Given the description of an element on the screen output the (x, y) to click on. 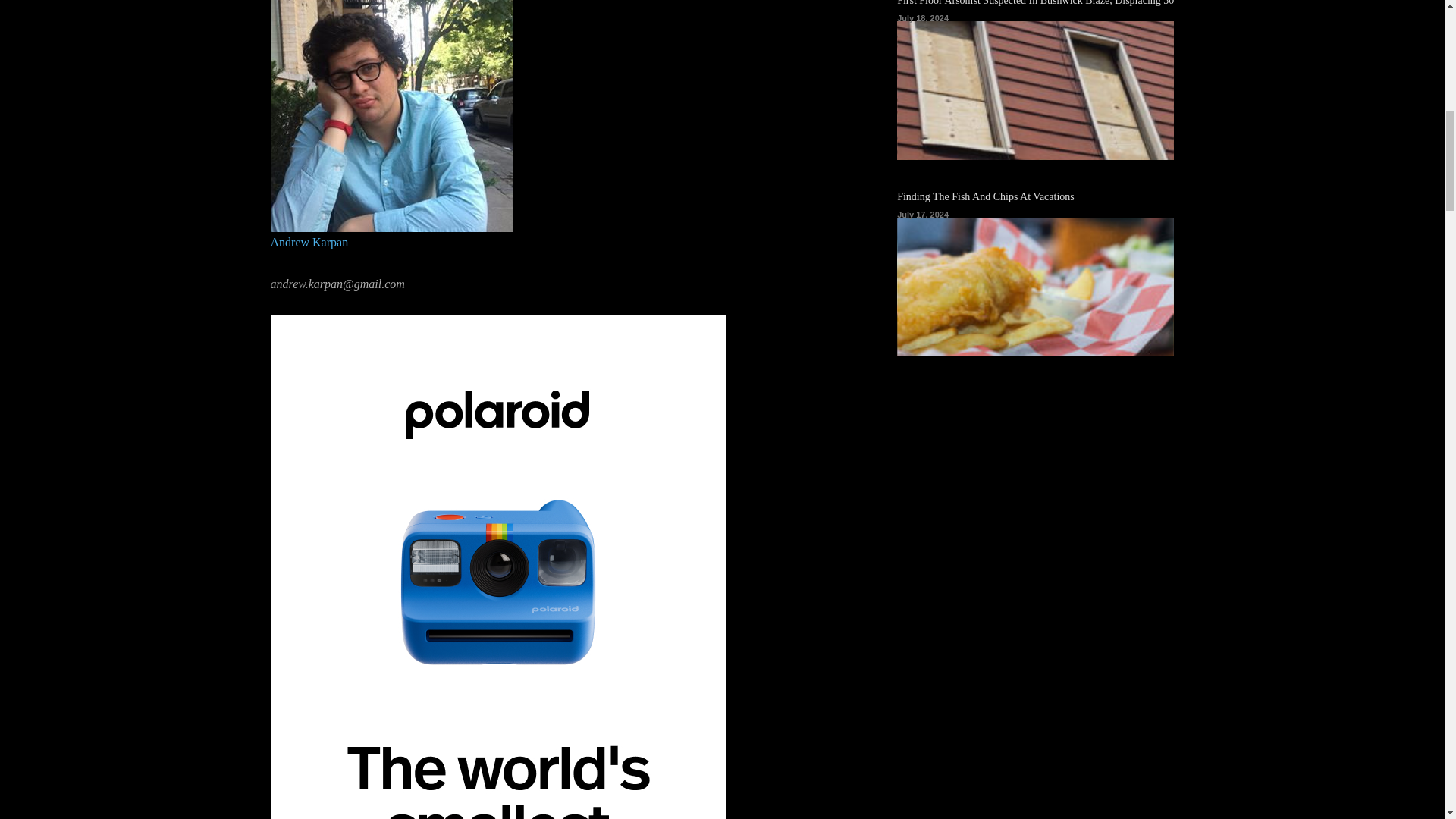
Andrew Karpan (308, 241)
